Given the description of an element on the screen output the (x, y) to click on. 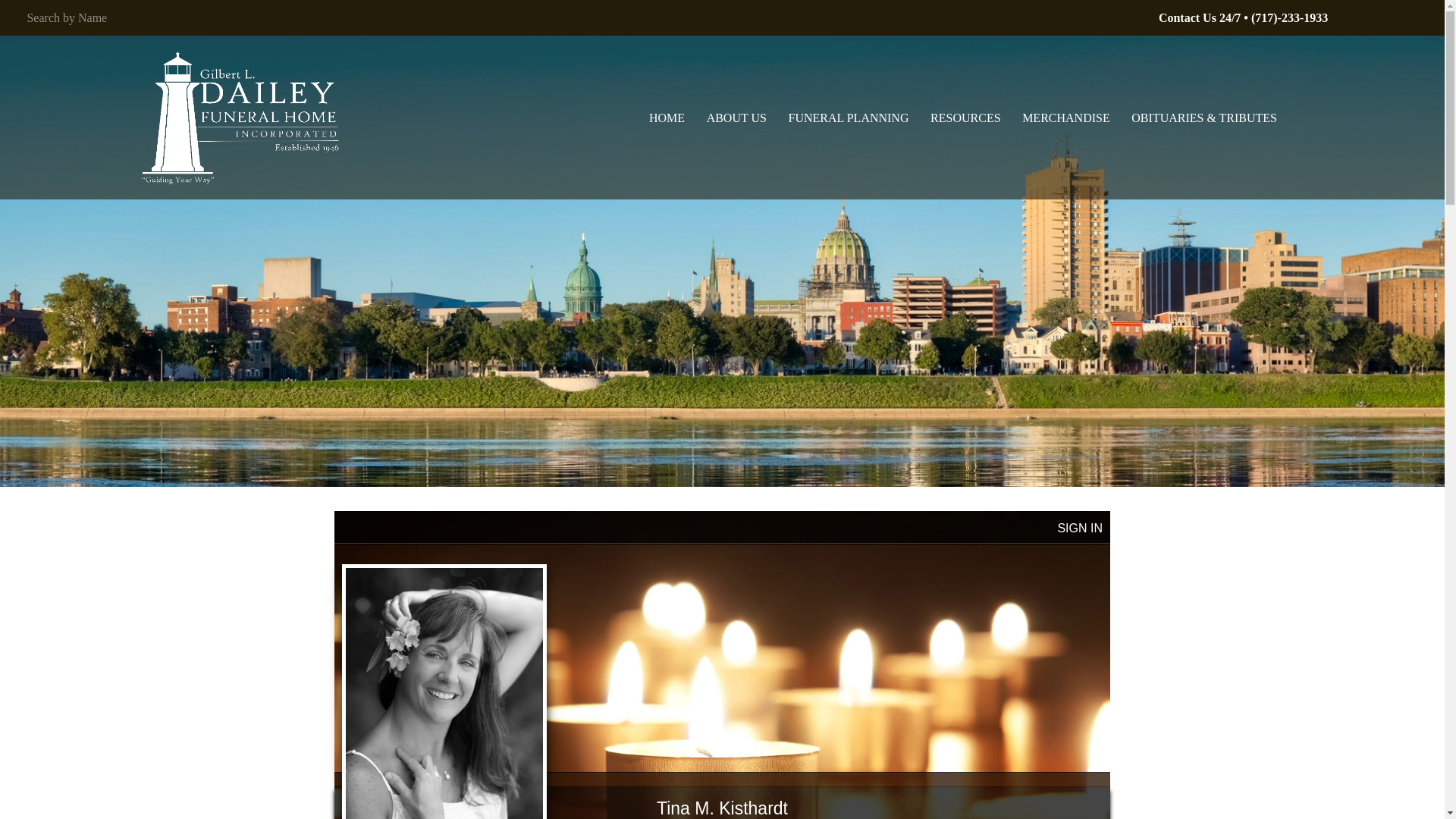
HOME (666, 117)
FUNERAL PLANNING (847, 117)
RESOURCES (965, 117)
SIGN IN (1079, 527)
Contact Us (1199, 17)
ABOUT US (735, 117)
Search by Name (360, 17)
Search by Name (360, 17)
MERCHANDISE (1065, 117)
